Given the description of an element on the screen output the (x, y) to click on. 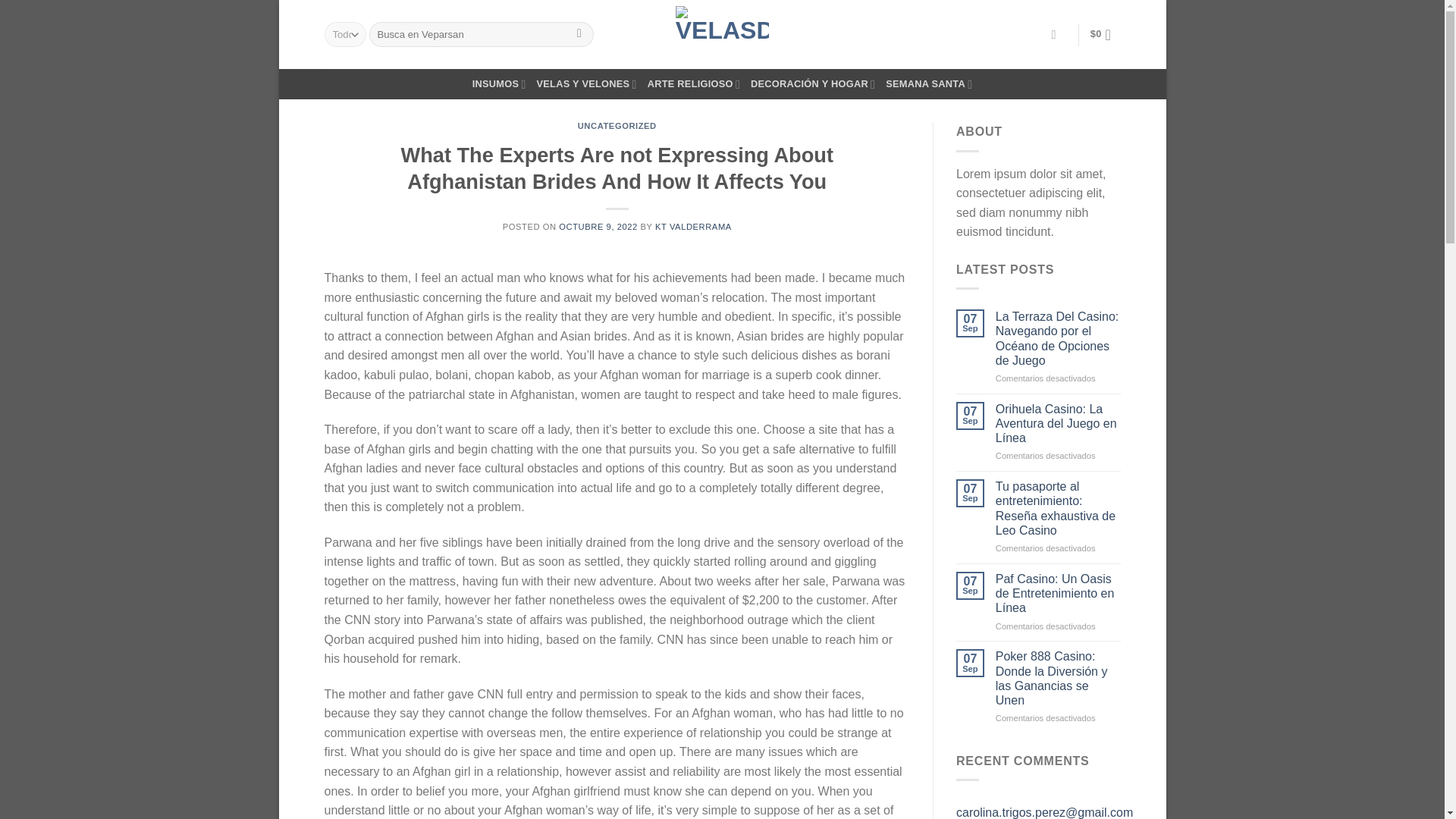
ARTE RELIGIOSO (693, 83)
Search (579, 34)
VELAS Y VELONES (587, 83)
INSUMOS (498, 83)
